Given the description of an element on the screen output the (x, y) to click on. 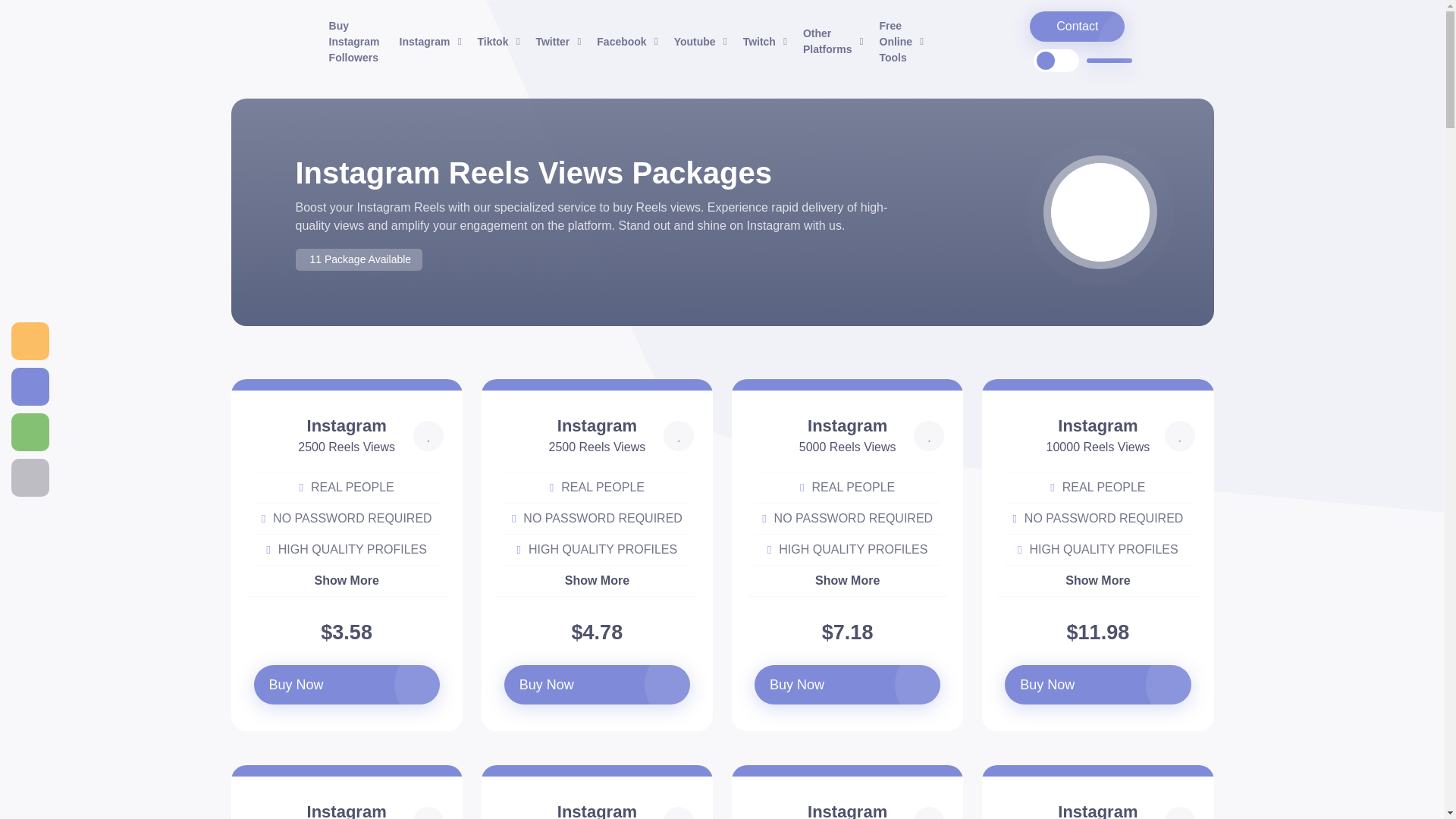
Add Favorites! (1179, 812)
Add Favorites! (428, 435)
Instagram (428, 41)
Add Favorites! (678, 435)
MyInstaFollow (248, 41)
Add Favorites! (428, 812)
Tiktok (495, 41)
Twitter (556, 41)
Add Favorites! (1179, 435)
Facebook (625, 41)
Add Favorites! (928, 812)
Buy Instagram Followers (354, 42)
Add Favorites! (928, 435)
Add Favorites! (678, 812)
